Given the description of an element on the screen output the (x, y) to click on. 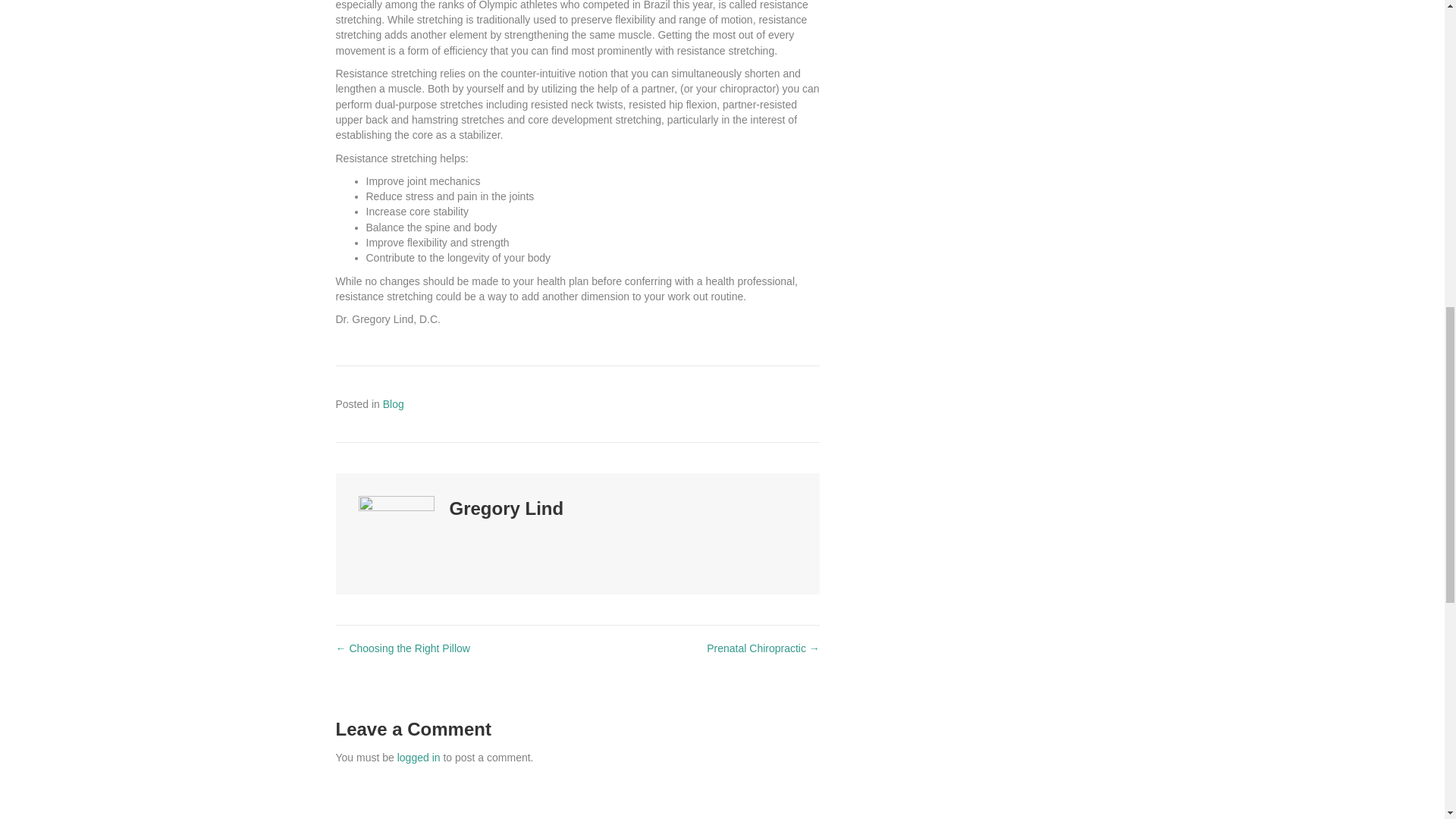
Blog (393, 403)
logged in (419, 757)
